Given the description of an element on the screen output the (x, y) to click on. 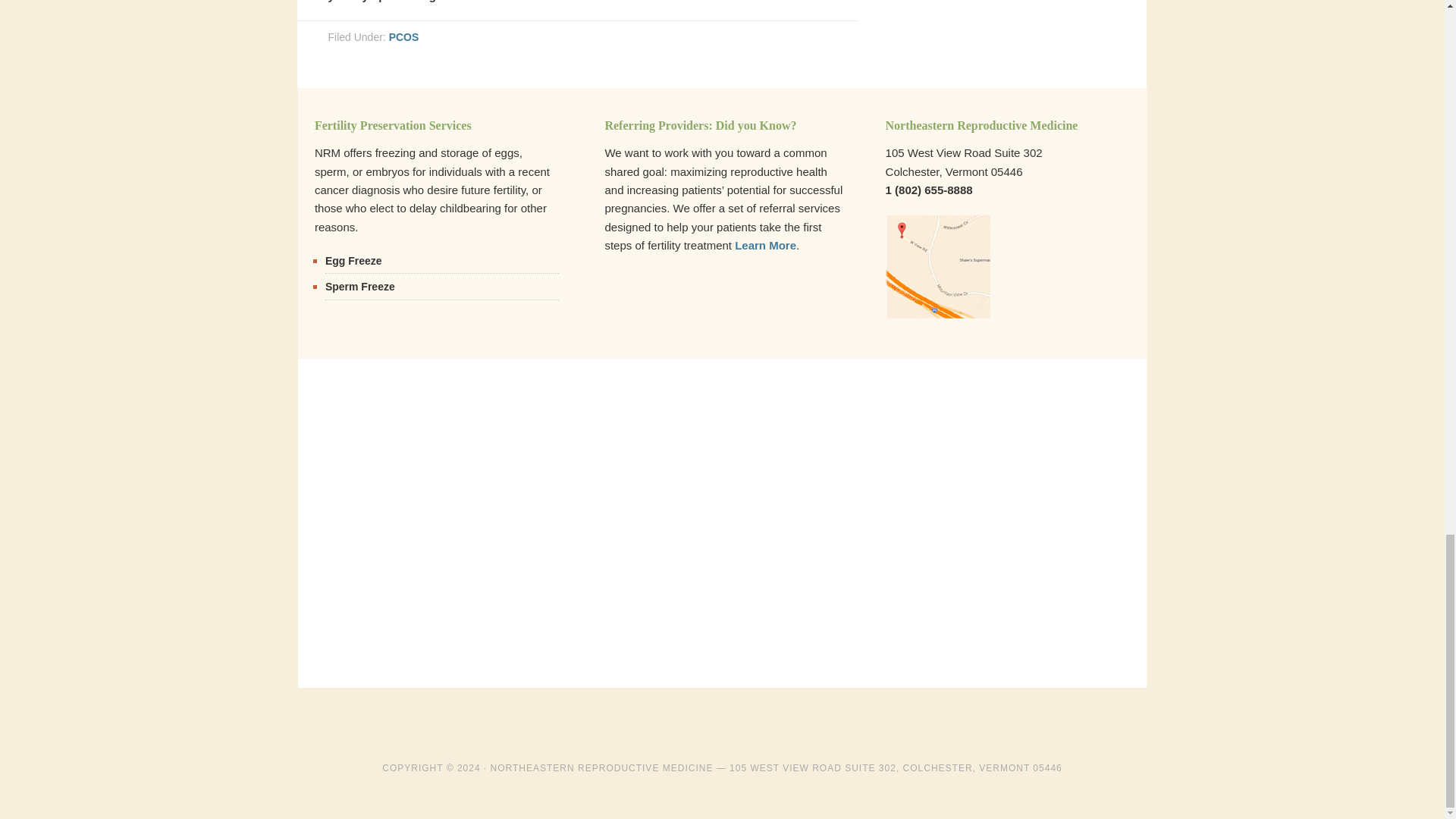
Fertility Preservation (352, 260)
Contact Us (937, 314)
Fertility Preservation (359, 286)
